Given the description of an element on the screen output the (x, y) to click on. 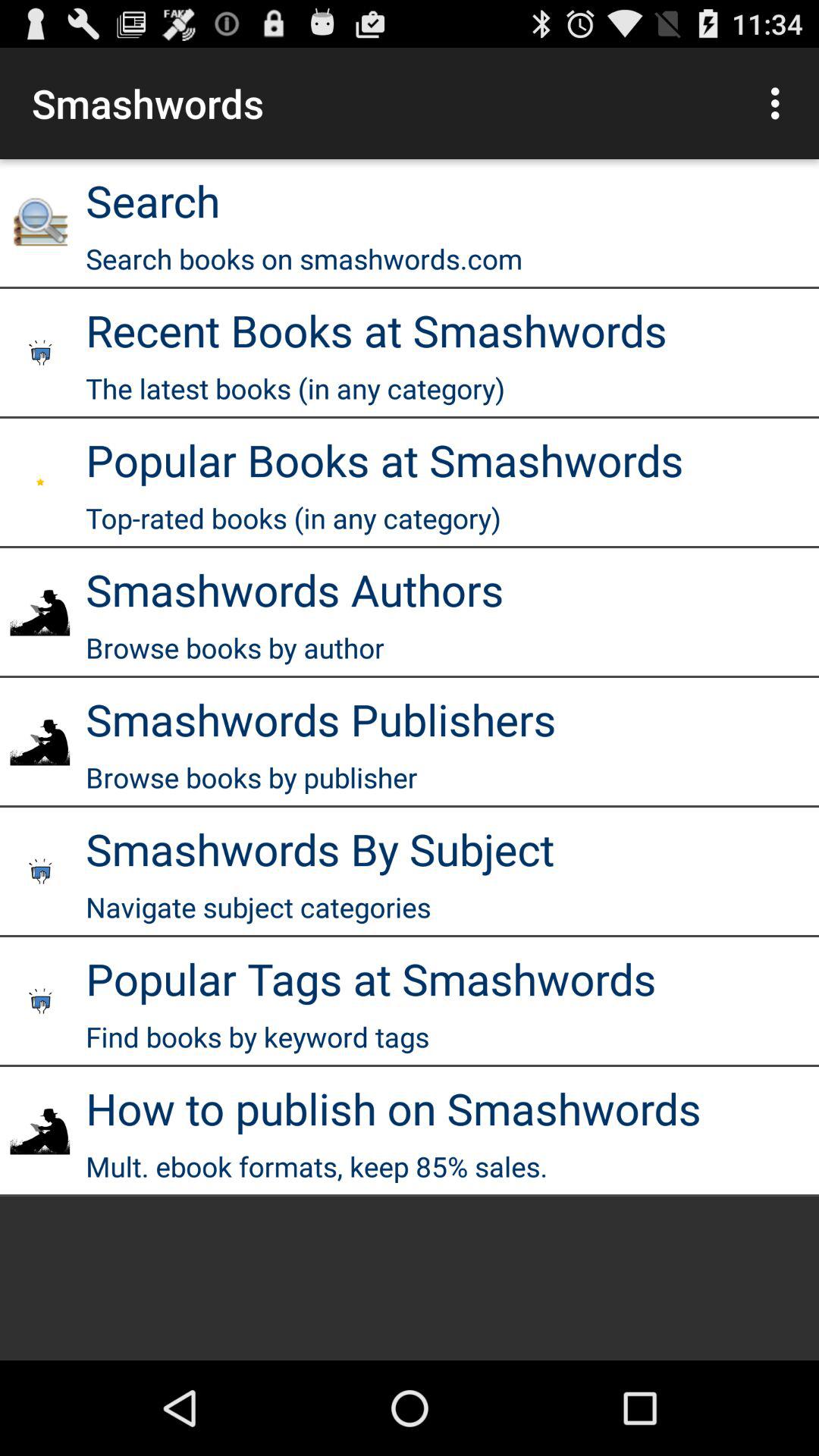
tap smashwords by subject icon (319, 848)
